Given the description of an element on the screen output the (x, y) to click on. 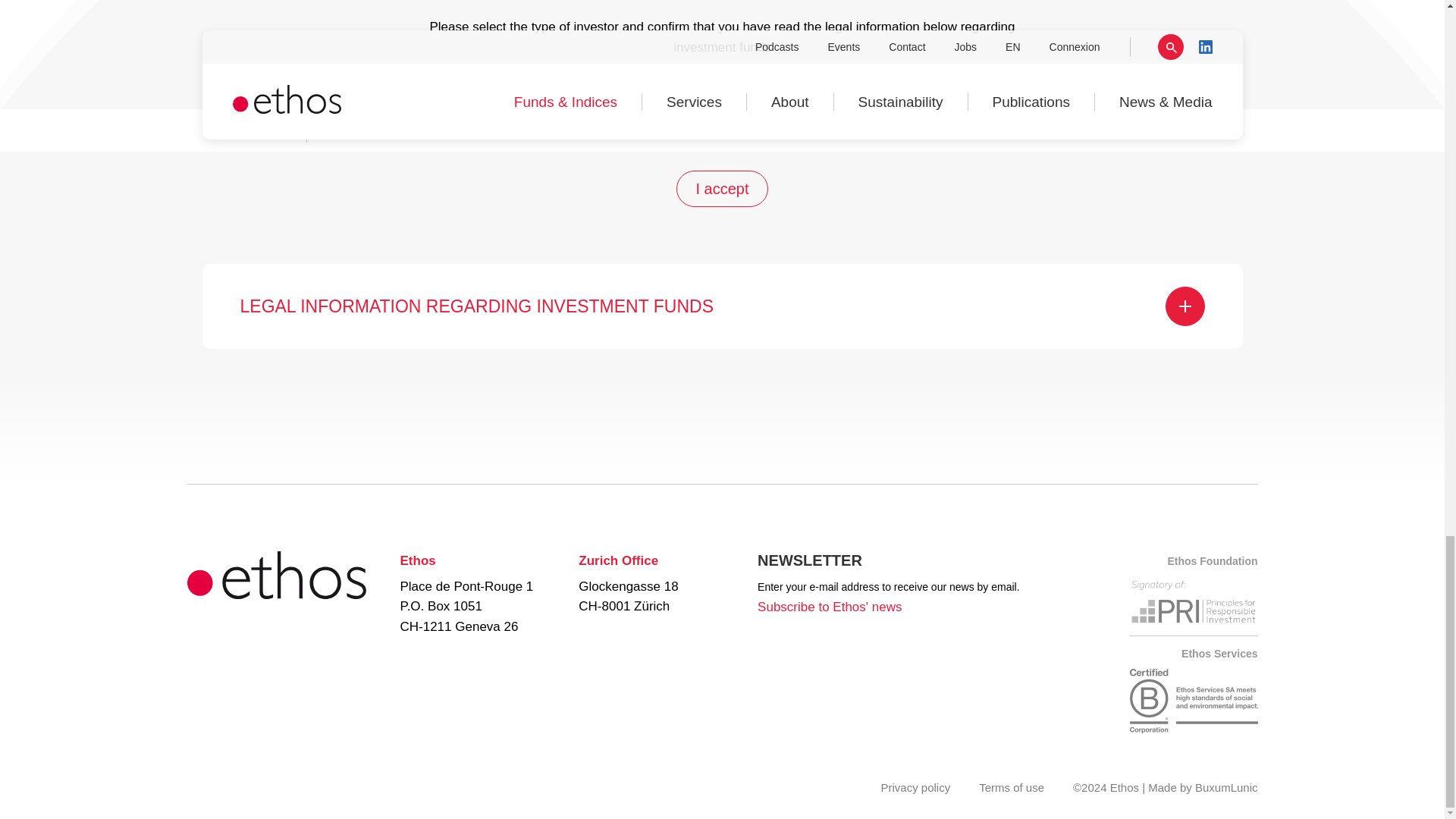
I accept (722, 188)
Home (275, 594)
